Given the description of an element on the screen output the (x, y) to click on. 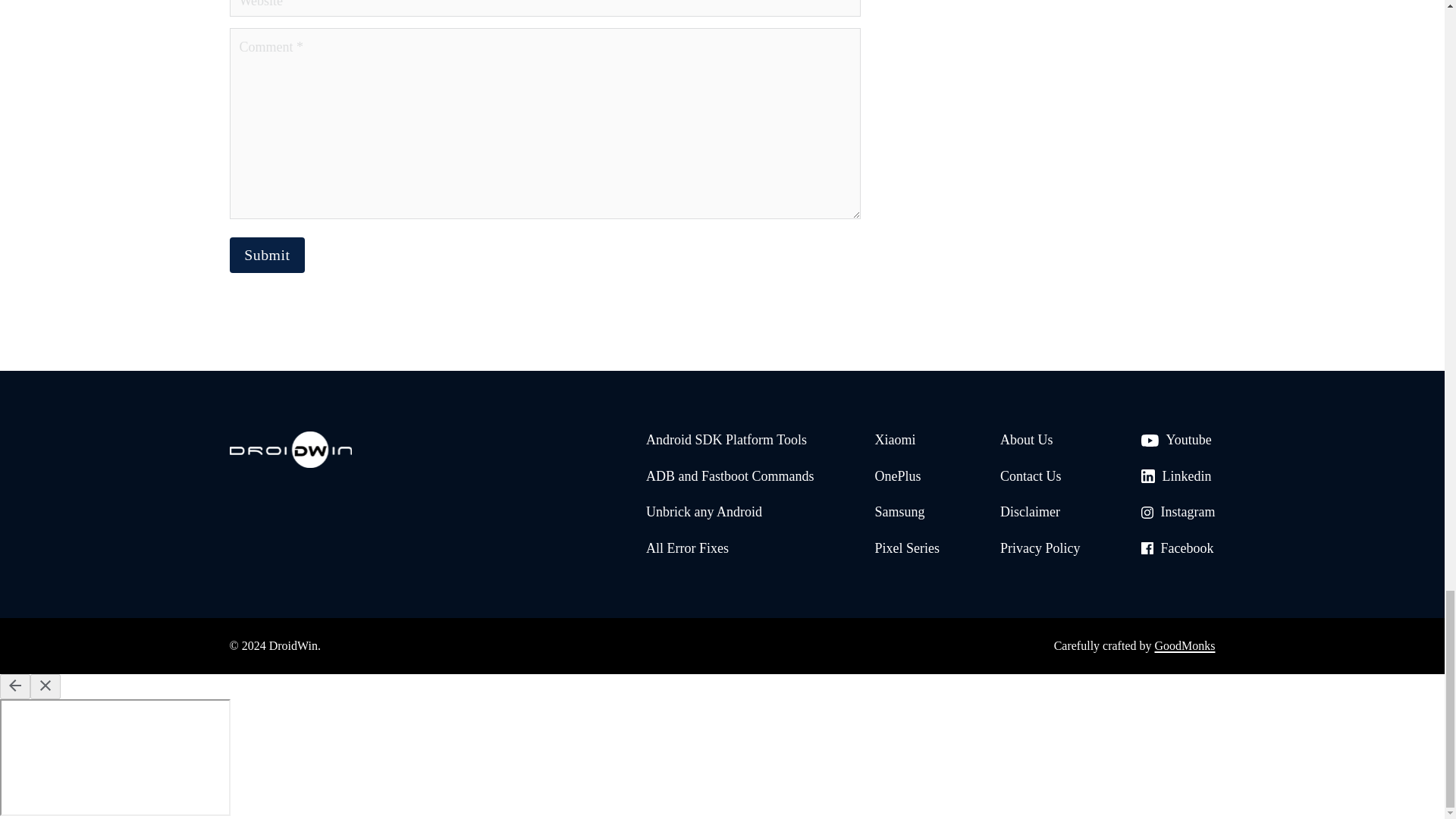
Submit (266, 254)
Droidwin (290, 453)
Submit (266, 254)
